Given the description of an element on the screen output the (x, y) to click on. 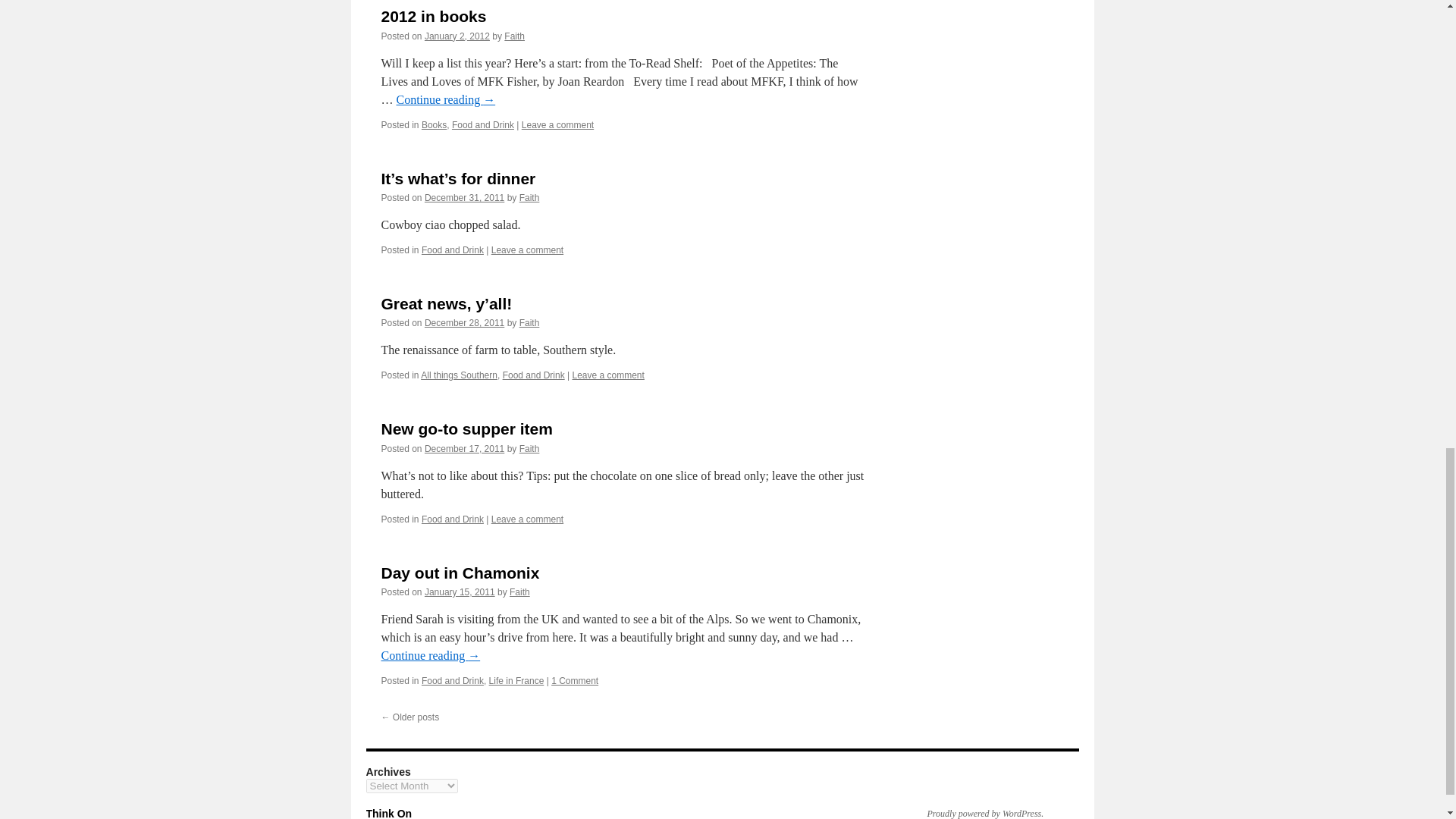
9:53 pm (457, 36)
12:49 am (464, 197)
View all posts by Faith (513, 36)
